Given the description of an element on the screen output the (x, y) to click on. 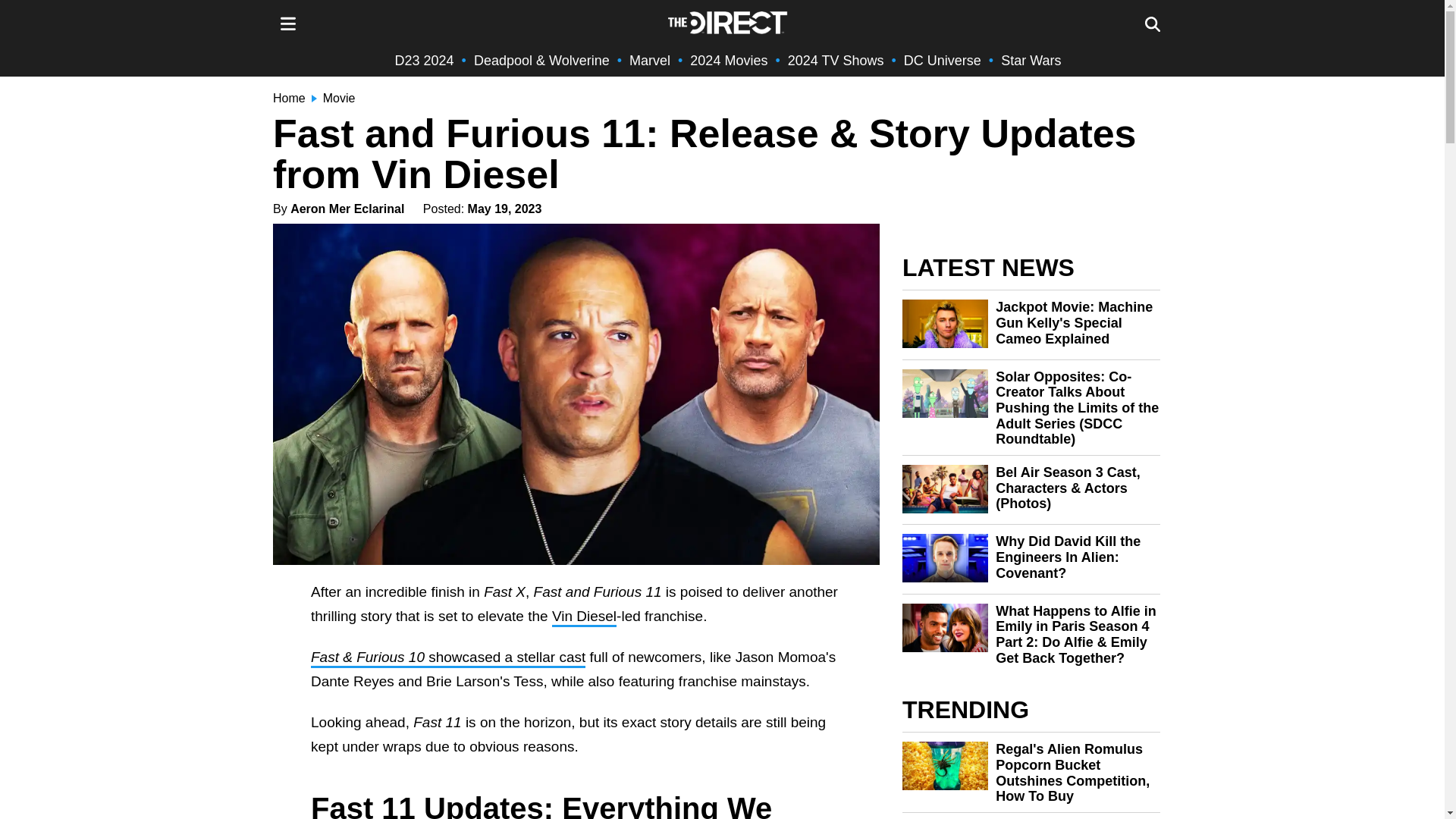
D23 2024 (424, 60)
Star Wars (1031, 60)
DC Universe (942, 60)
Marvel (648, 60)
2024 TV Shows (835, 60)
2024 Movies (728, 60)
